Given the description of an element on the screen output the (x, y) to click on. 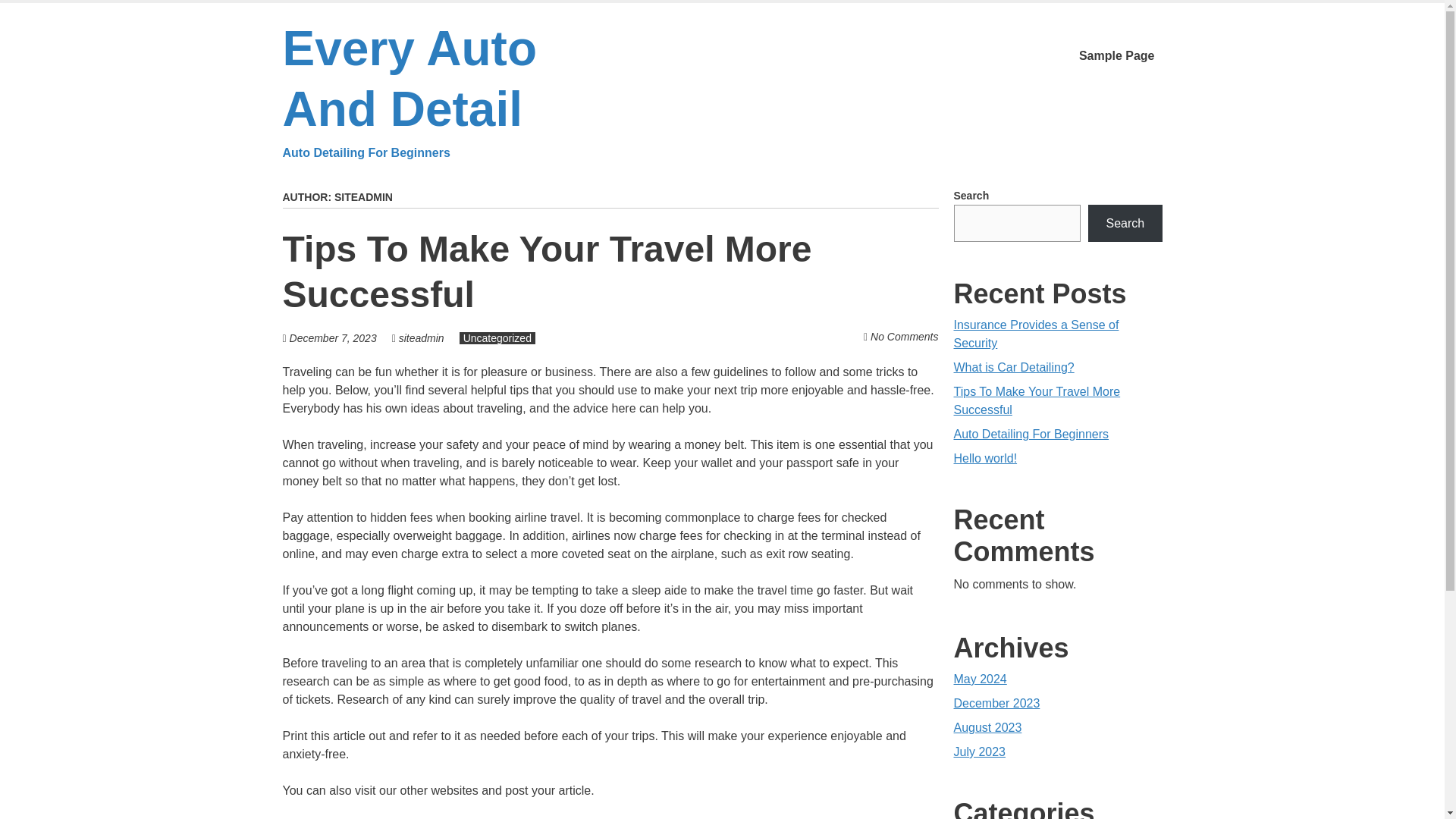
Comment on Tips To Make Your Travel More Successful (903, 336)
siteadmin (421, 337)
No Comments (903, 336)
Every Auto And Detail (453, 90)
December 7, 2023 (333, 337)
Uncategorized (453, 90)
View all posts by siteadmin (497, 337)
Permalink to Tips To Make Your Travel More Successful (421, 337)
Sample Page (546, 271)
Tips To Make Your Travel More Successful (1116, 55)
